Given the description of an element on the screen output the (x, y) to click on. 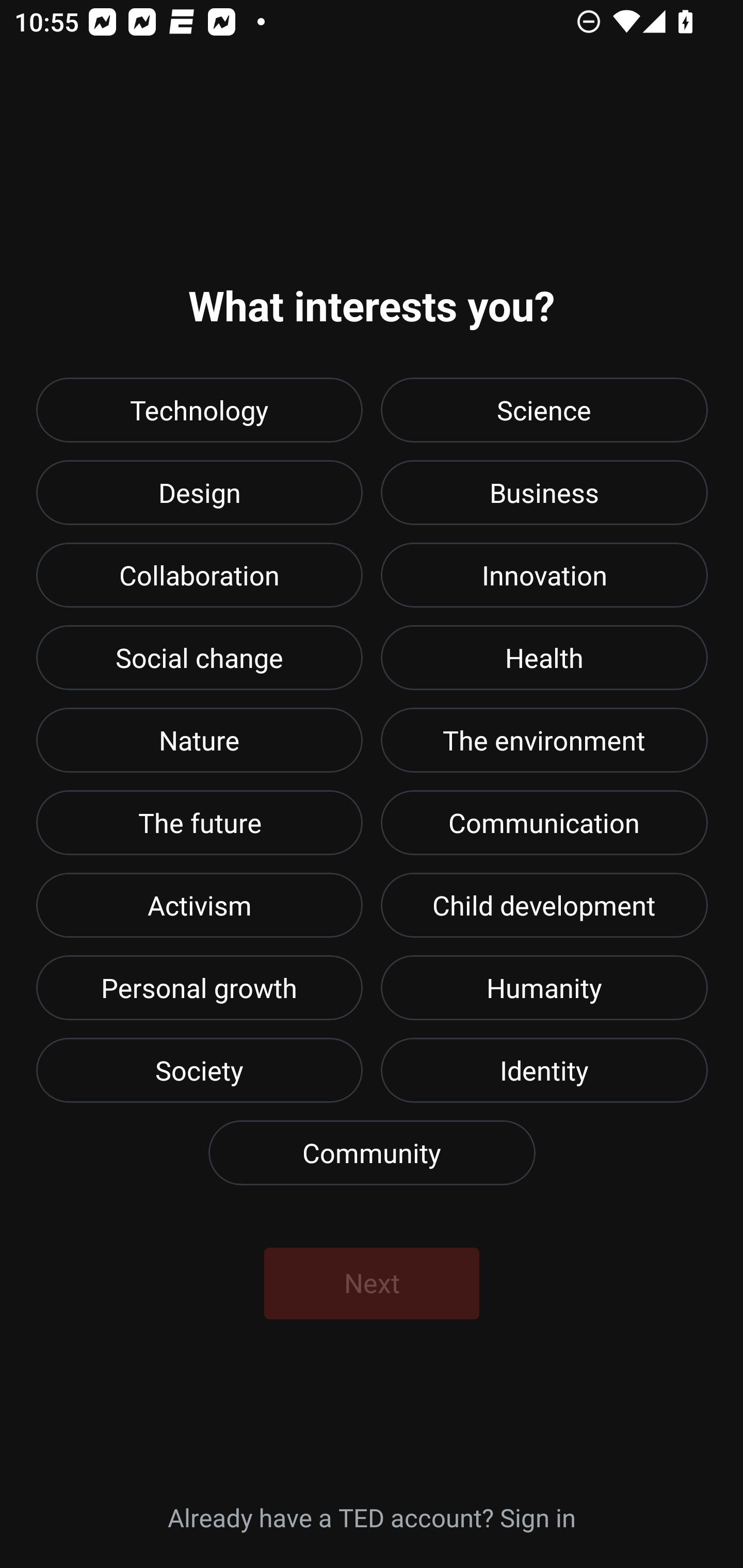
Technology (199, 409)
Science (544, 409)
Design (199, 492)
Business (544, 492)
Collaboration (199, 575)
Innovation (544, 575)
Social change (199, 657)
Health (544, 657)
Nature (199, 740)
The environment (544, 740)
The future (199, 822)
Communication (544, 822)
Activism (199, 905)
Child development (544, 905)
Personal growth (199, 987)
Humanity (544, 987)
Society (199, 1070)
Identity (544, 1070)
Community (371, 1152)
Next (371, 1283)
Already have a TED account? Sign in (371, 1516)
